Given the description of an element on the screen output the (x, y) to click on. 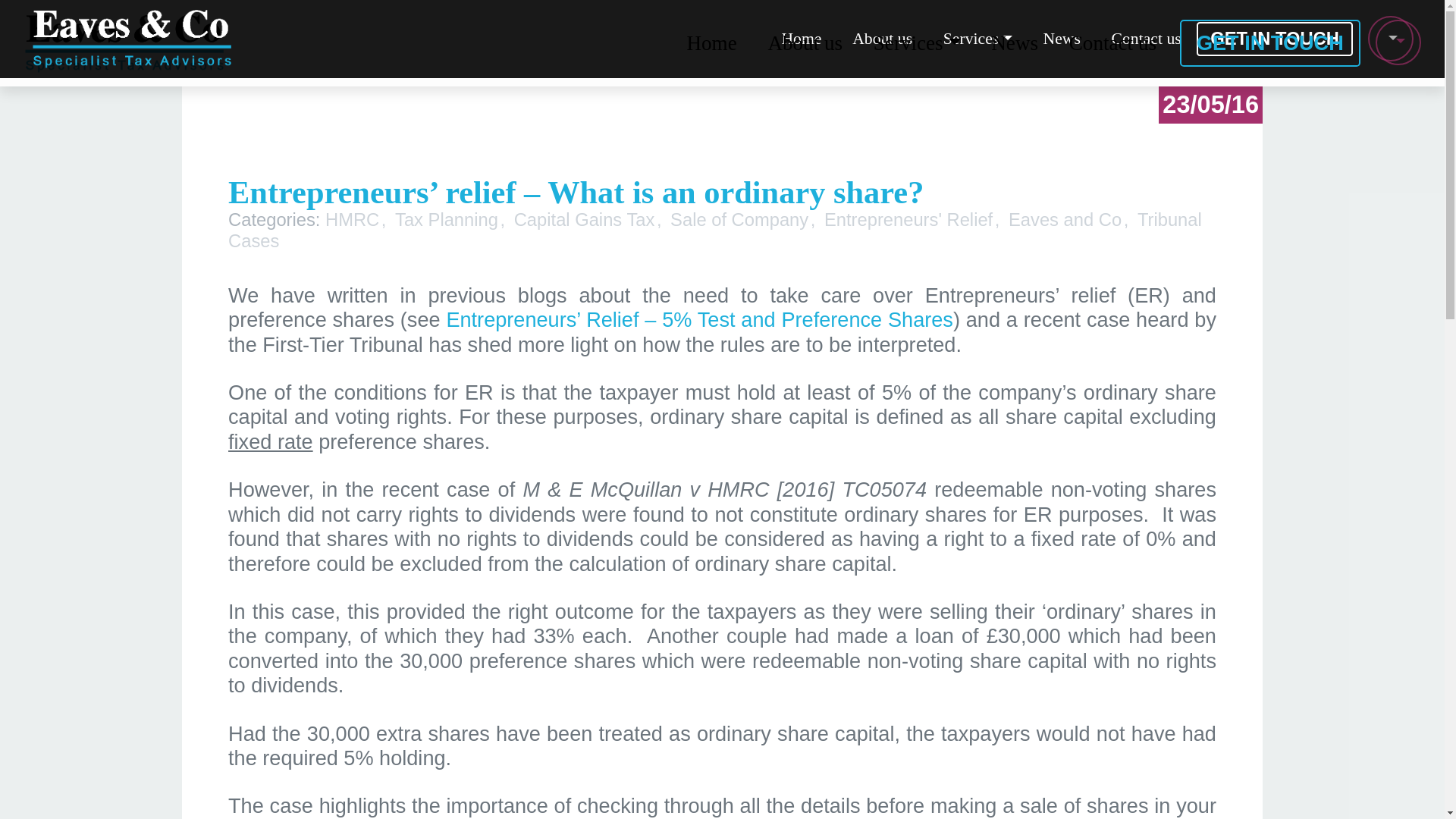
Services (977, 38)
News (1013, 43)
Capital Gains Tax (591, 219)
Services (977, 38)
About us (882, 38)
Tax Planning (453, 219)
Contact us (1112, 43)
Home (801, 38)
About us (804, 43)
News (1061, 38)
